Given the description of an element on the screen output the (x, y) to click on. 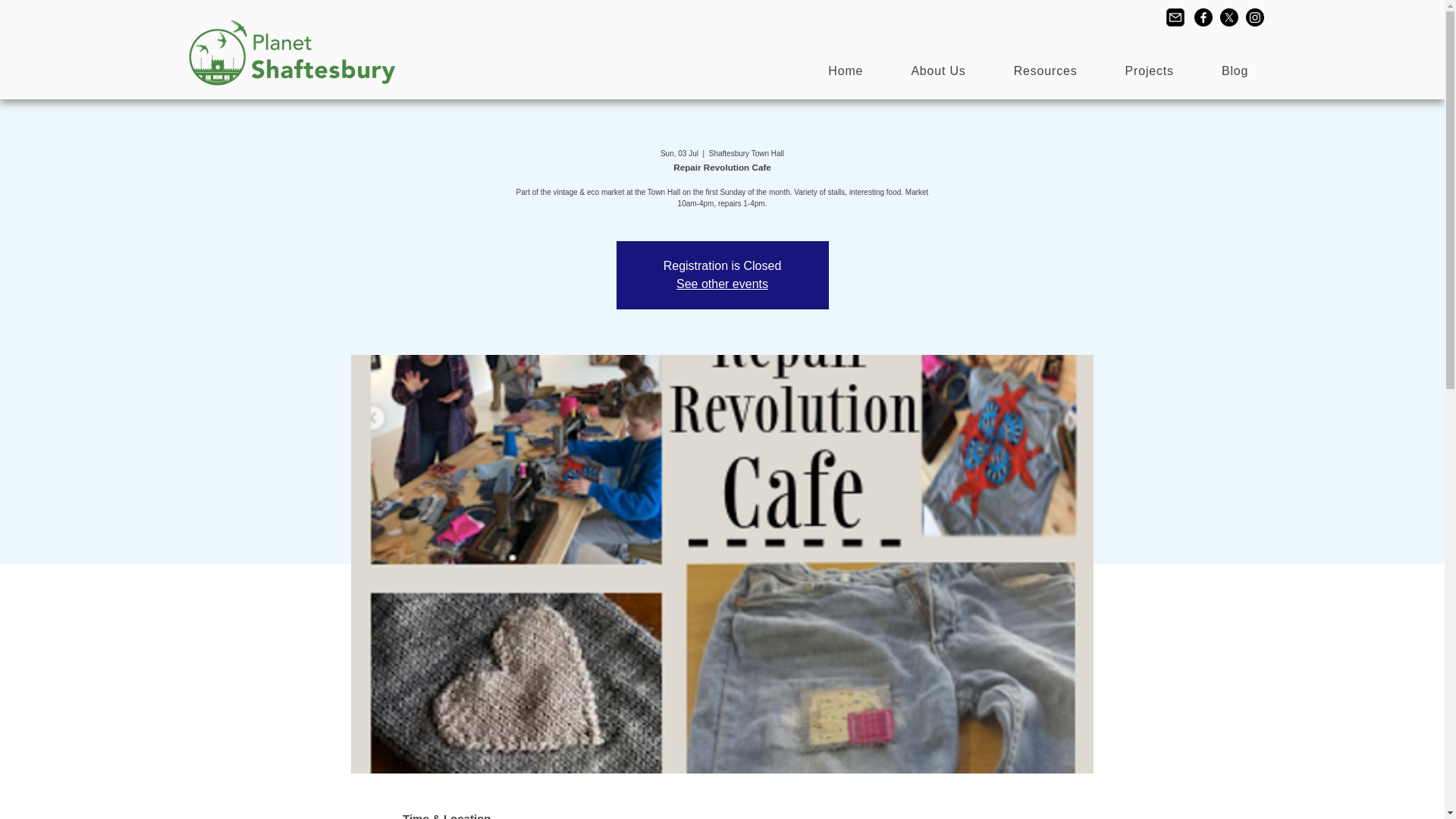
Blog (1233, 70)
See other events (722, 283)
Projects (1148, 70)
Home (845, 70)
